Given the description of an element on the screen output the (x, y) to click on. 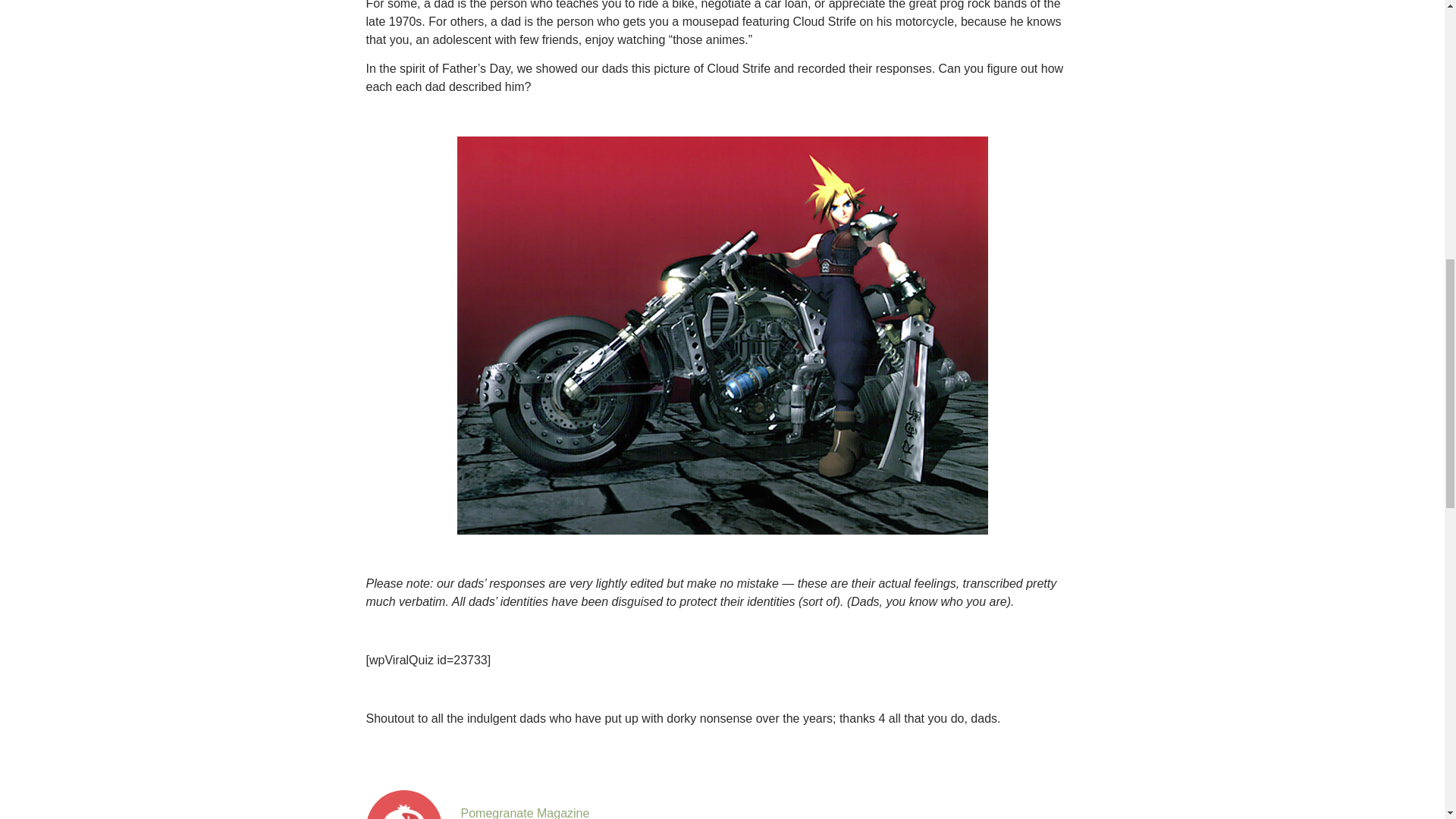
Pomegranate Magazine (525, 812)
